Given the description of an element on the screen output the (x, y) to click on. 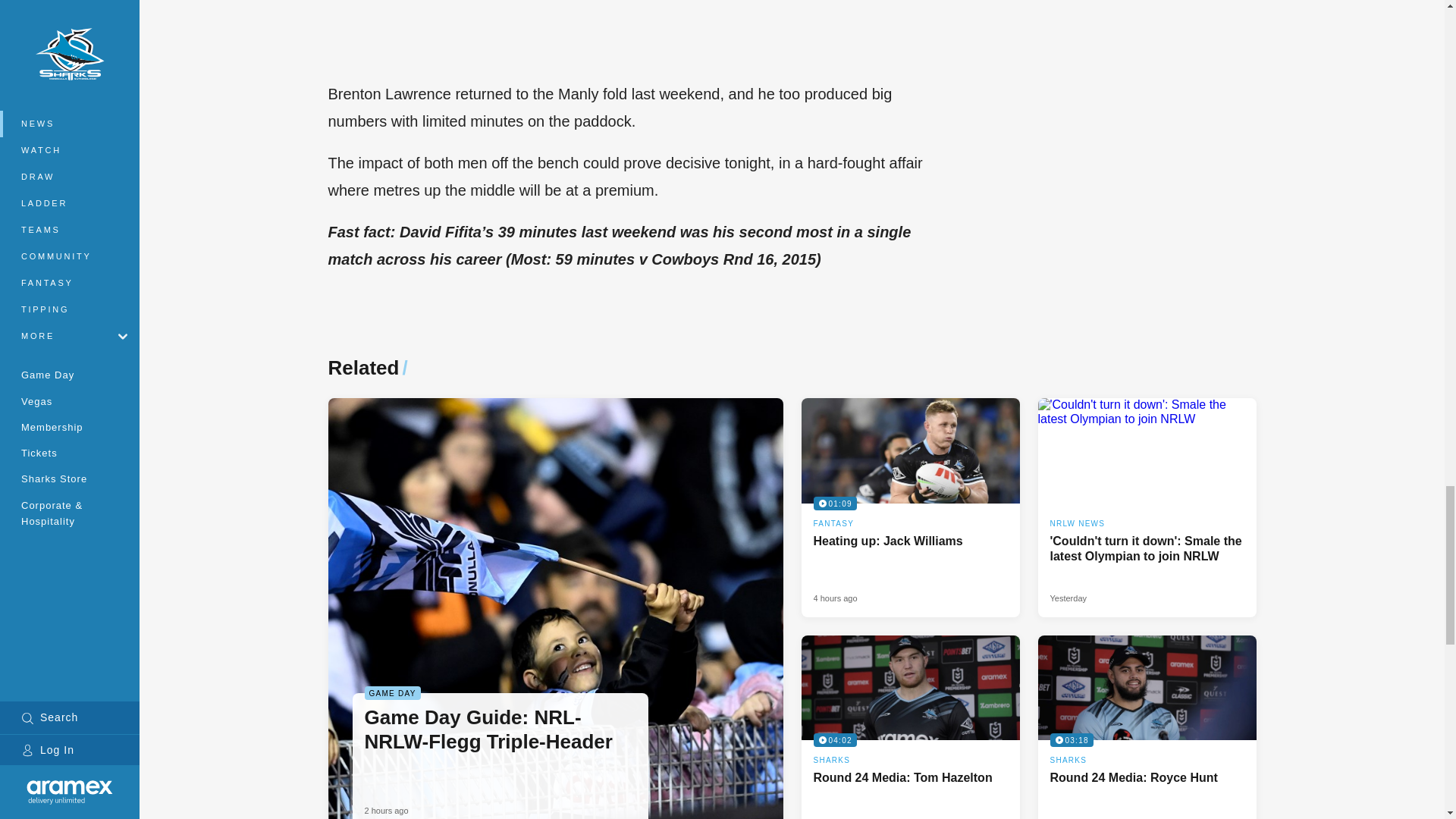
3rd party ad content (909, 507)
